Given the description of an element on the screen output the (x, y) to click on. 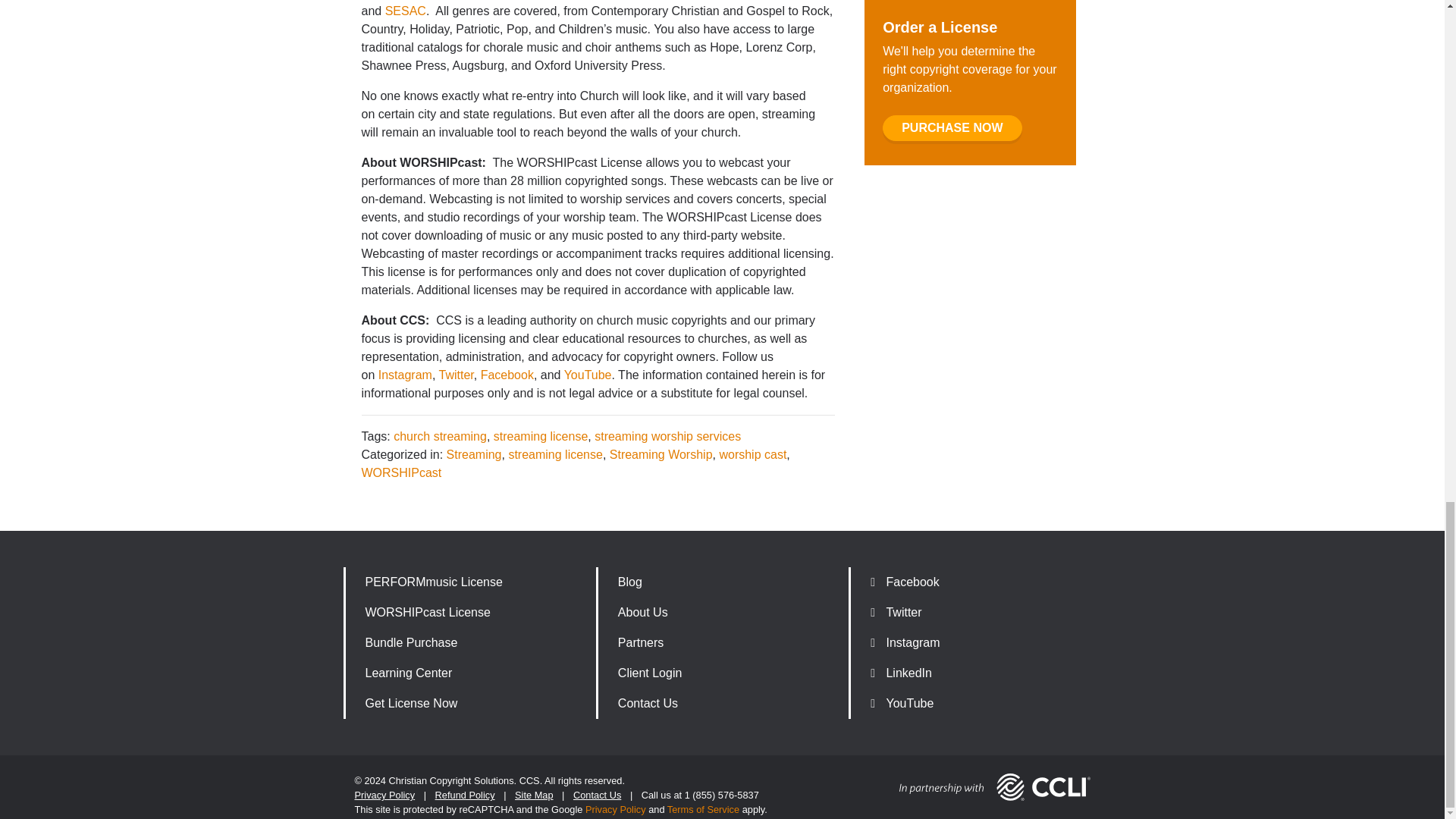
Blog (721, 582)
WORSHIPcast (401, 472)
streaming license (540, 436)
worship cast (752, 454)
SESAC (405, 10)
Instagram (405, 374)
YouTube (587, 374)
Learning Center (469, 673)
church streaming (439, 436)
Streaming (474, 454)
Twitter (455, 374)
streaming license (555, 454)
Bundle Purchase (469, 643)
Streaming Worship (661, 454)
streaming worship services (667, 436)
